Given the description of an element on the screen output the (x, y) to click on. 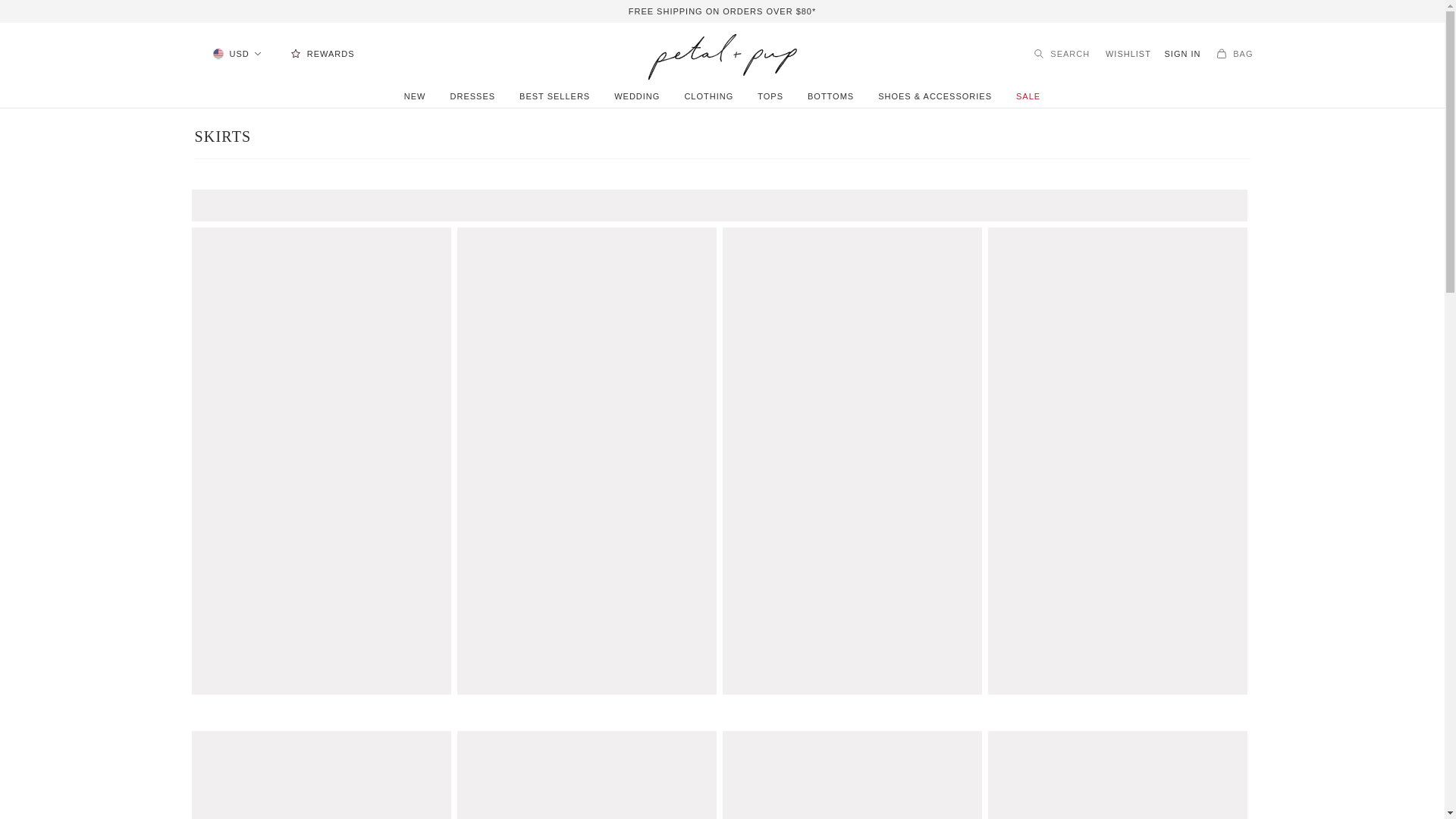
Selected currency: United States Dollar (239, 53)
